Given the description of an element on the screen output the (x, y) to click on. 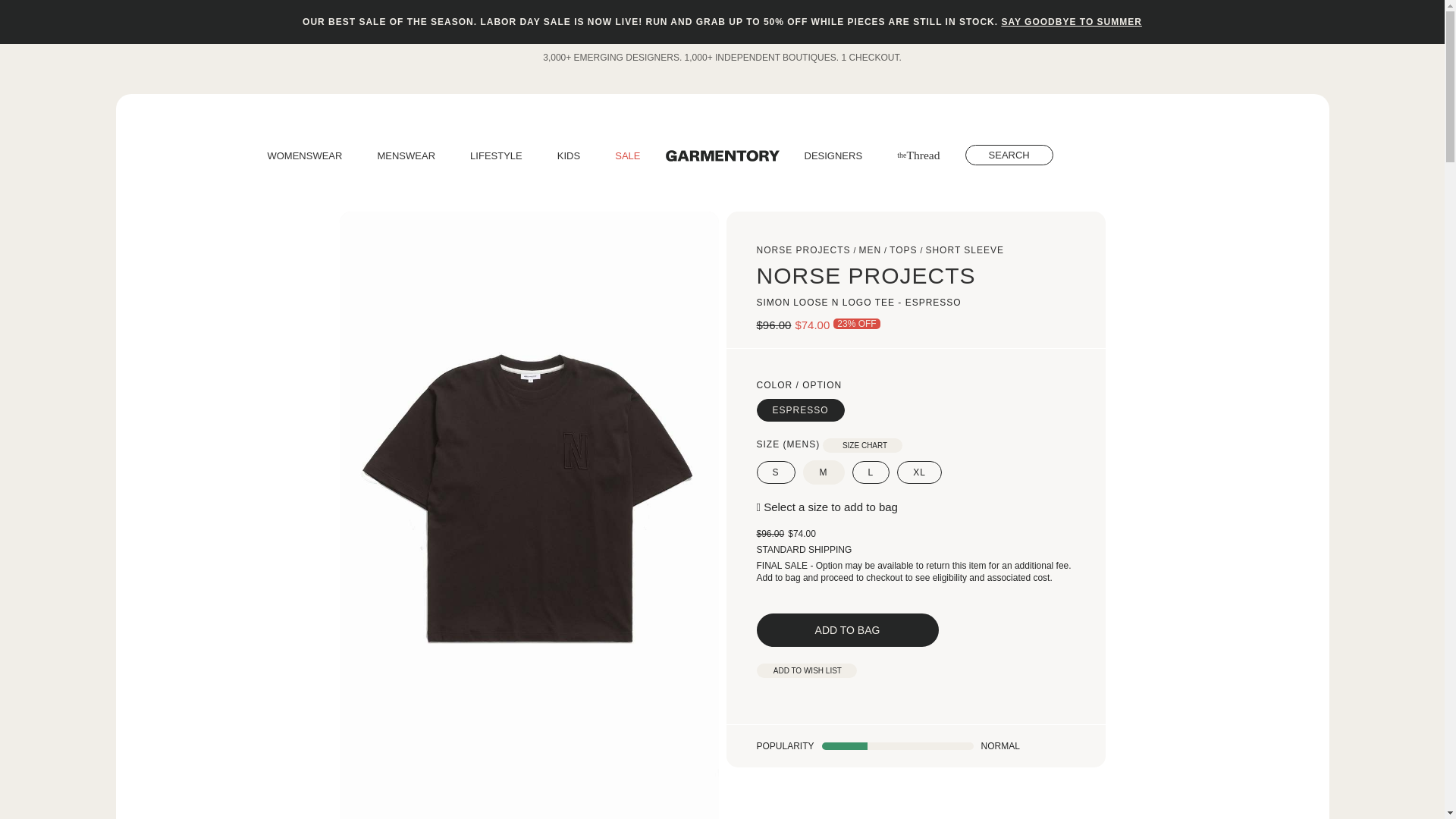
SAY GOODBYE TO SUMMER (1071, 21)
Add to bag (848, 630)
SAY GOODBYE TO SUMMER (1071, 21)
